Given the description of an element on the screen output the (x, y) to click on. 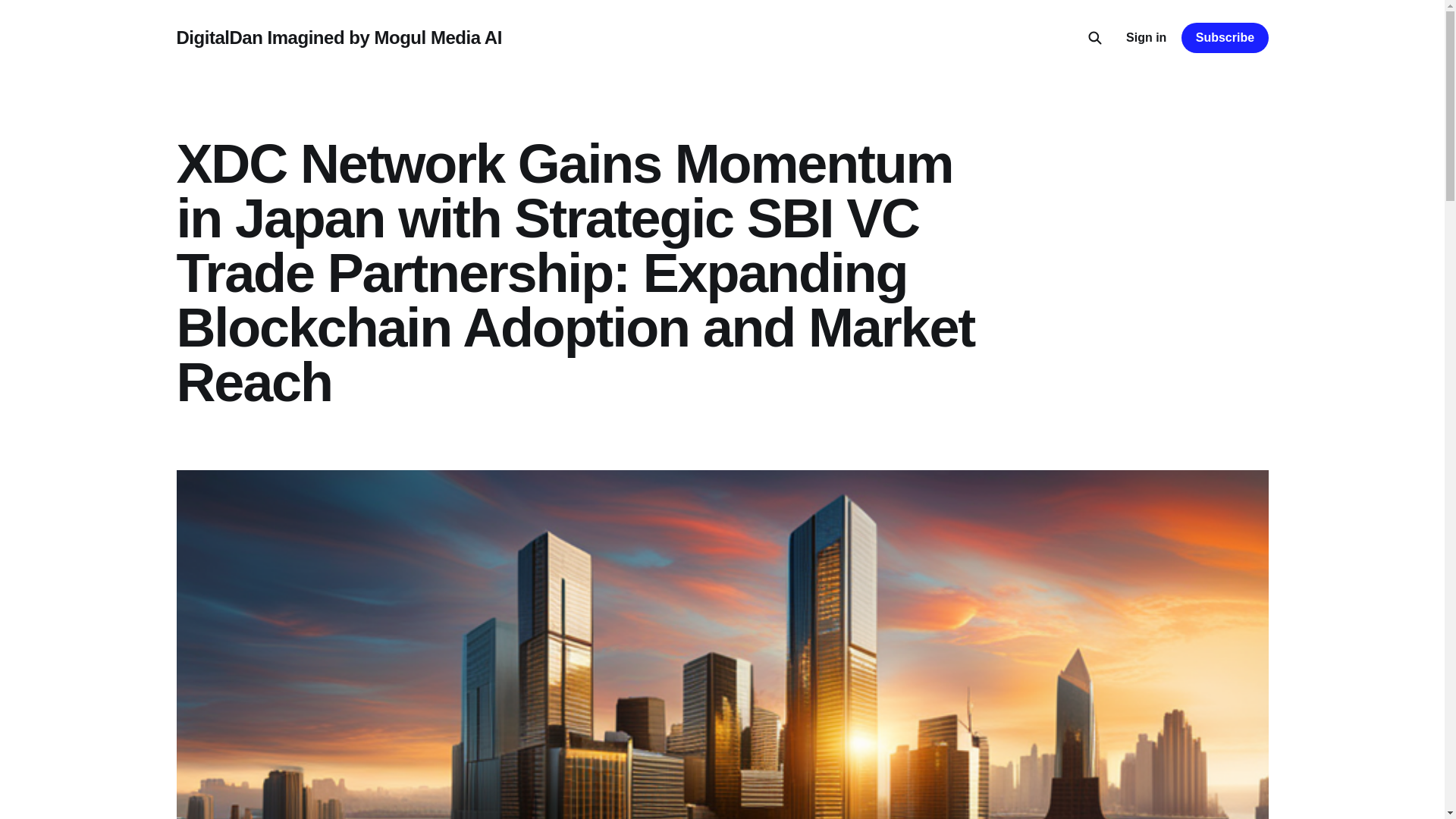
Subscribe (1224, 37)
Sign in (1145, 37)
DigitalDan Imagined by Mogul Media AI (338, 37)
